Given the description of an element on the screen output the (x, y) to click on. 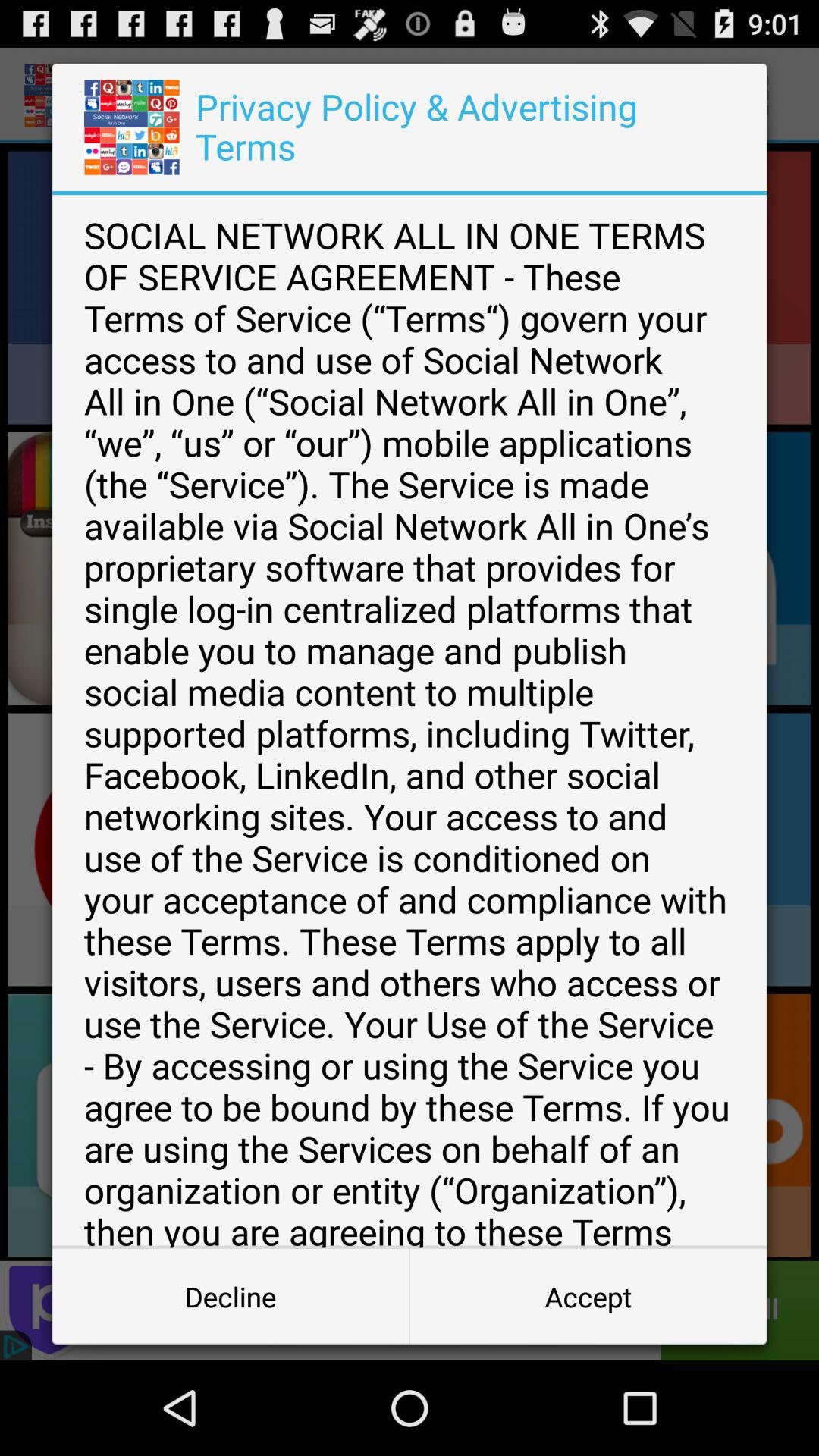
select the decline at the bottom left corner (230, 1296)
